Given the description of an element on the screen output the (x, y) to click on. 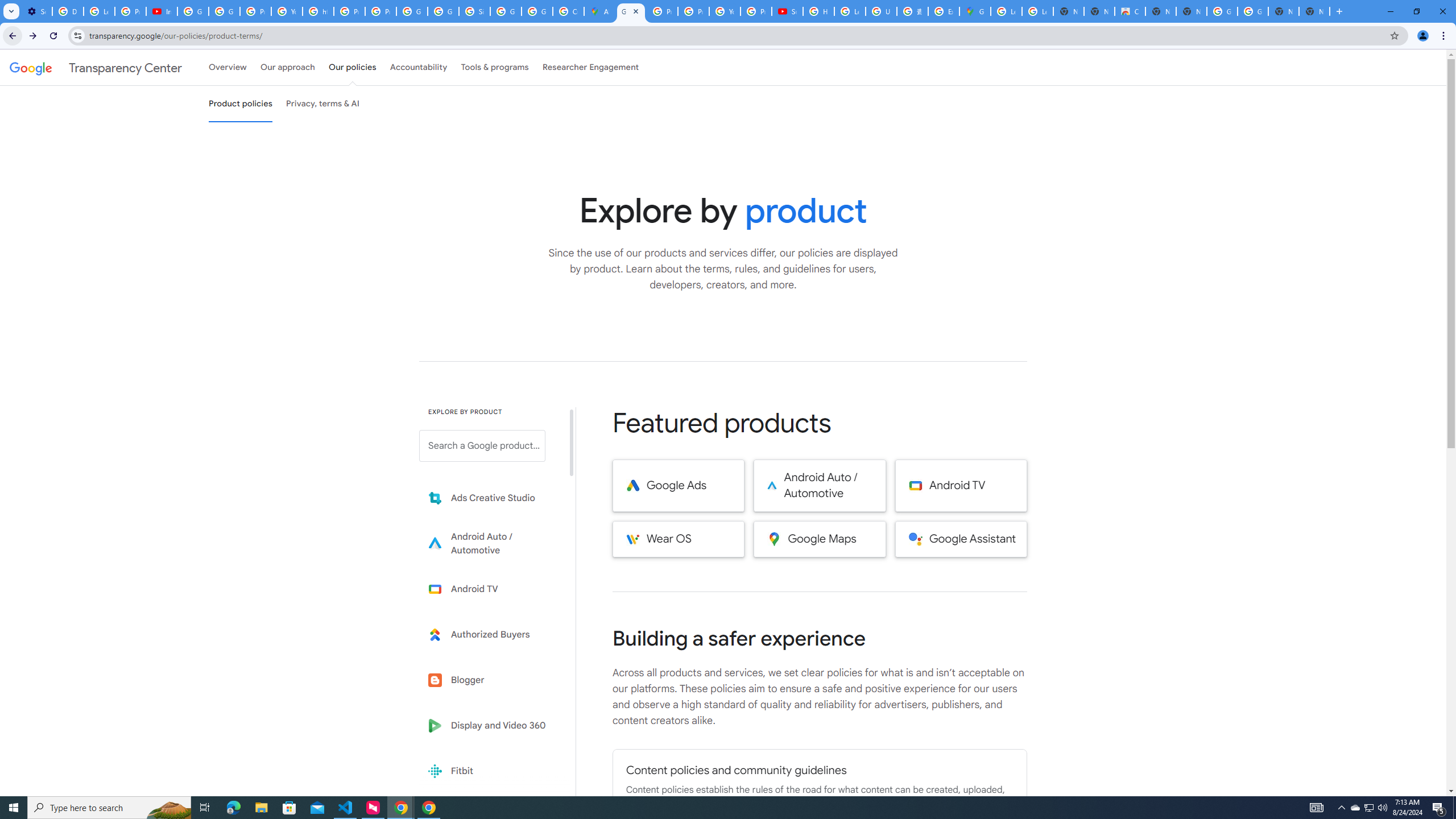
Privacy Help Center - Policies Help (662, 11)
YouTube (286, 11)
Learn more about Authorized Buyers (490, 634)
Product policies (239, 103)
Google Maps (820, 538)
Display and Video 360 (490, 725)
Learn more about Ads Creative Studio (490, 497)
Sign in - Google Accounts (474, 11)
Accountability (418, 67)
Google Account Help (192, 11)
Google Maps (974, 11)
